Given the description of an element on the screen output the (x, y) to click on. 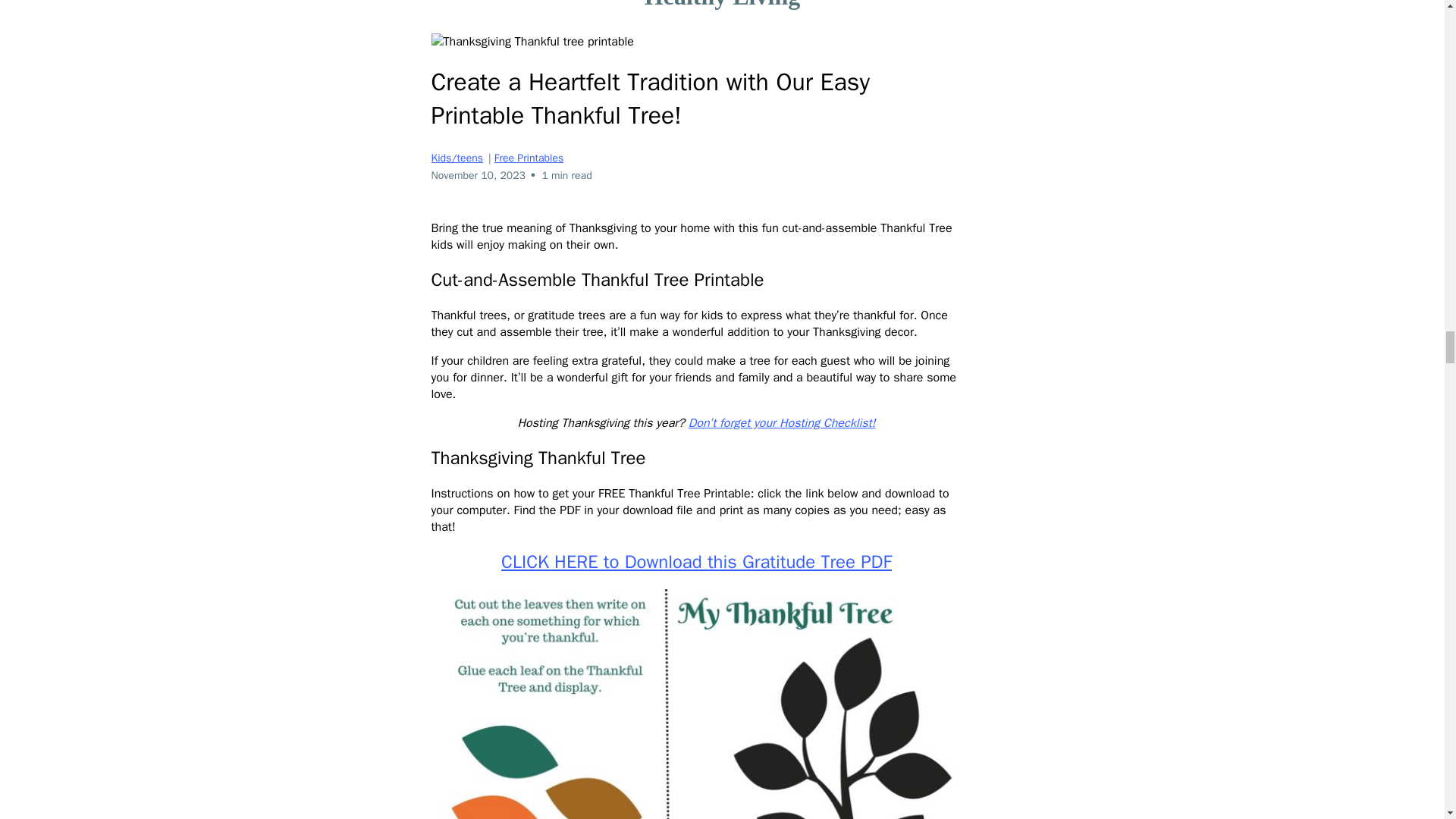
thankful tree printable cut and assemble (695, 703)
